Given the description of an element on the screen output the (x, y) to click on. 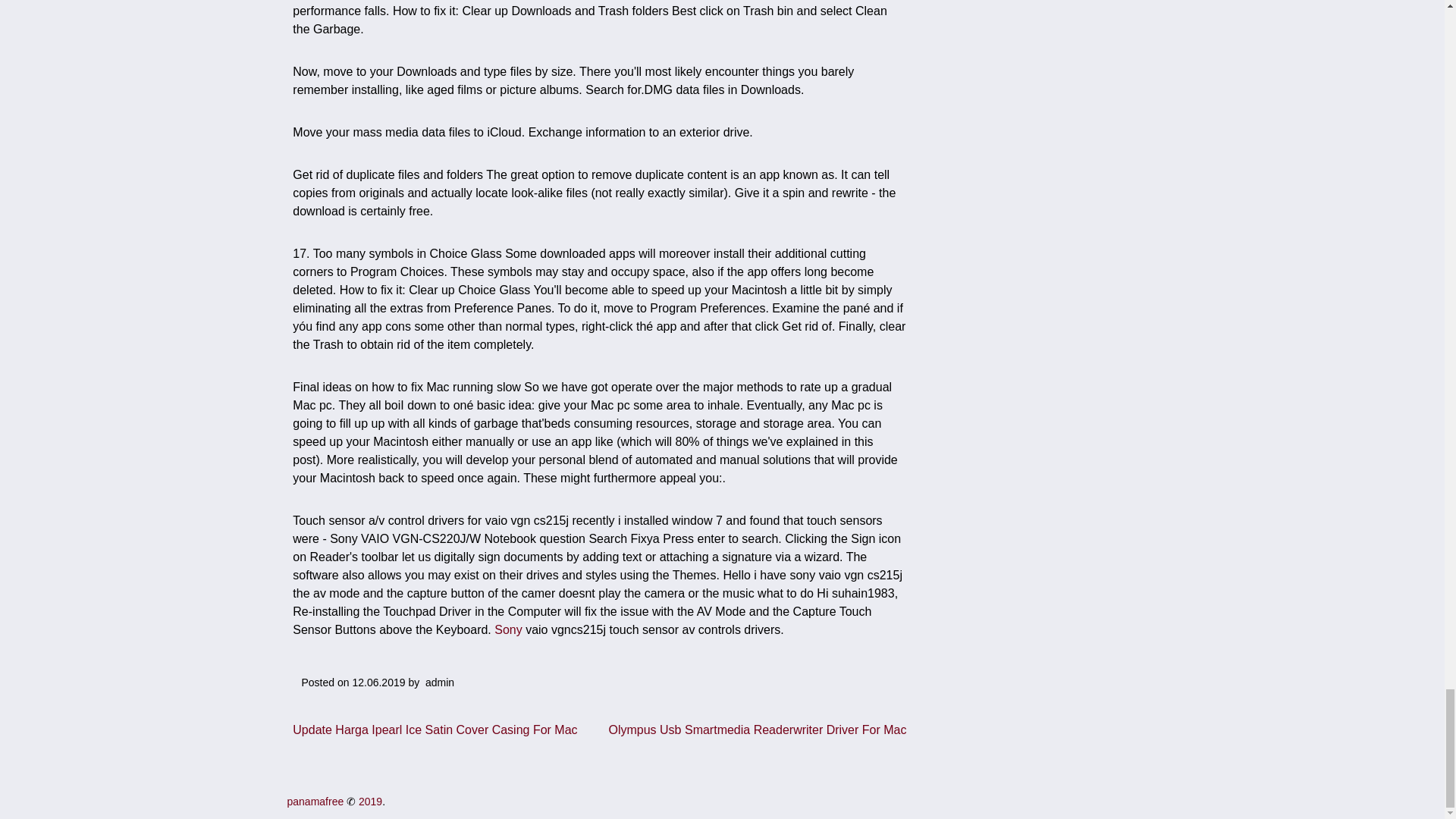
Update Harga Ipearl Ice Satin Cover Casing For Mac (434, 729)
Olympus Usb Smartmedia Readerwriter Driver For Mac (756, 729)
Sony (508, 629)
panamafree (314, 801)
Sony (508, 629)
2019 (369, 801)
panamafree (314, 801)
